Given the description of an element on the screen output the (x, y) to click on. 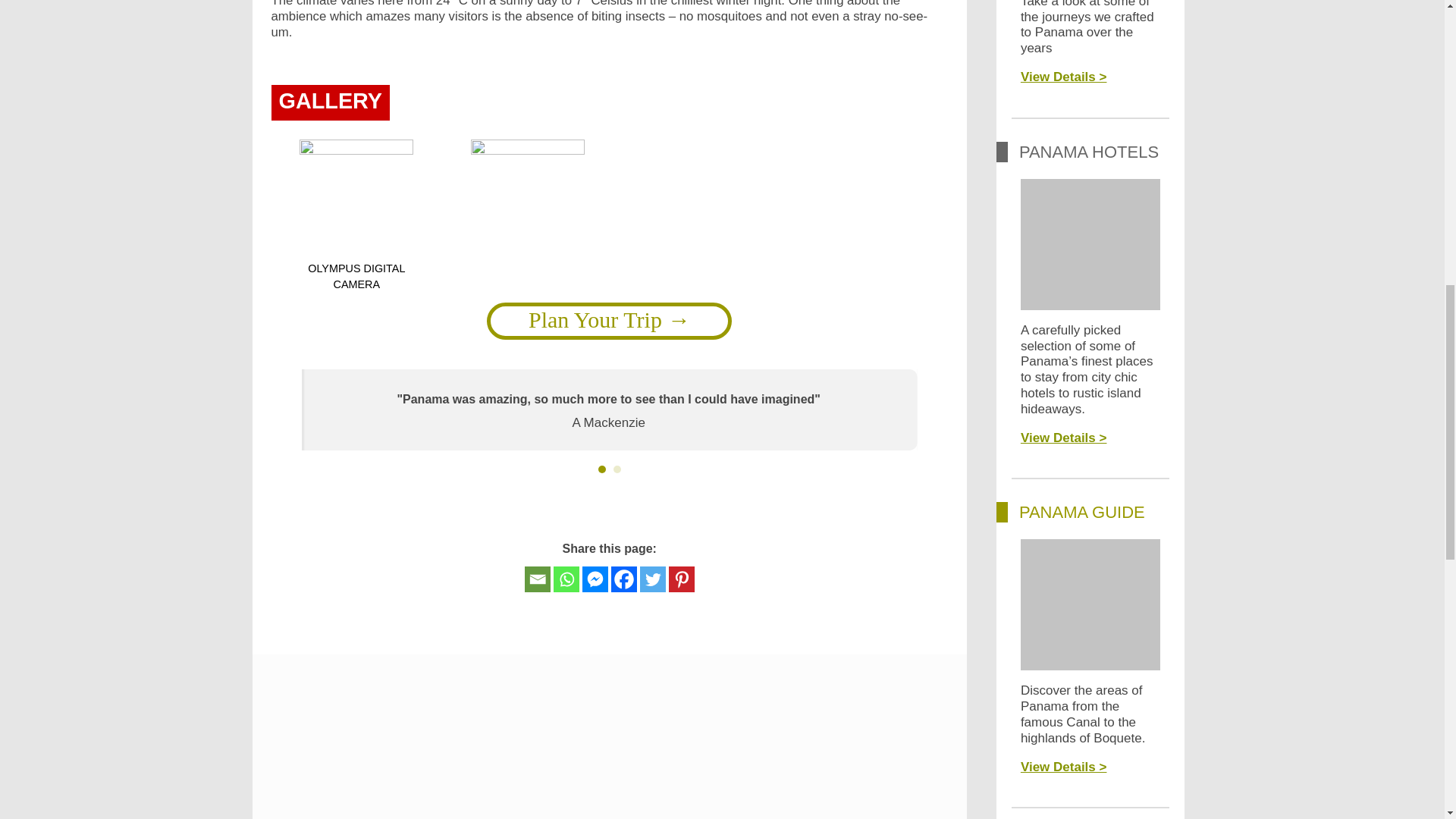
Email (537, 579)
Facebook (624, 579)
Pinterest (681, 579)
Whatsapp (566, 579)
Twitter (652, 579)
